Given the description of an element on the screen output the (x, y) to click on. 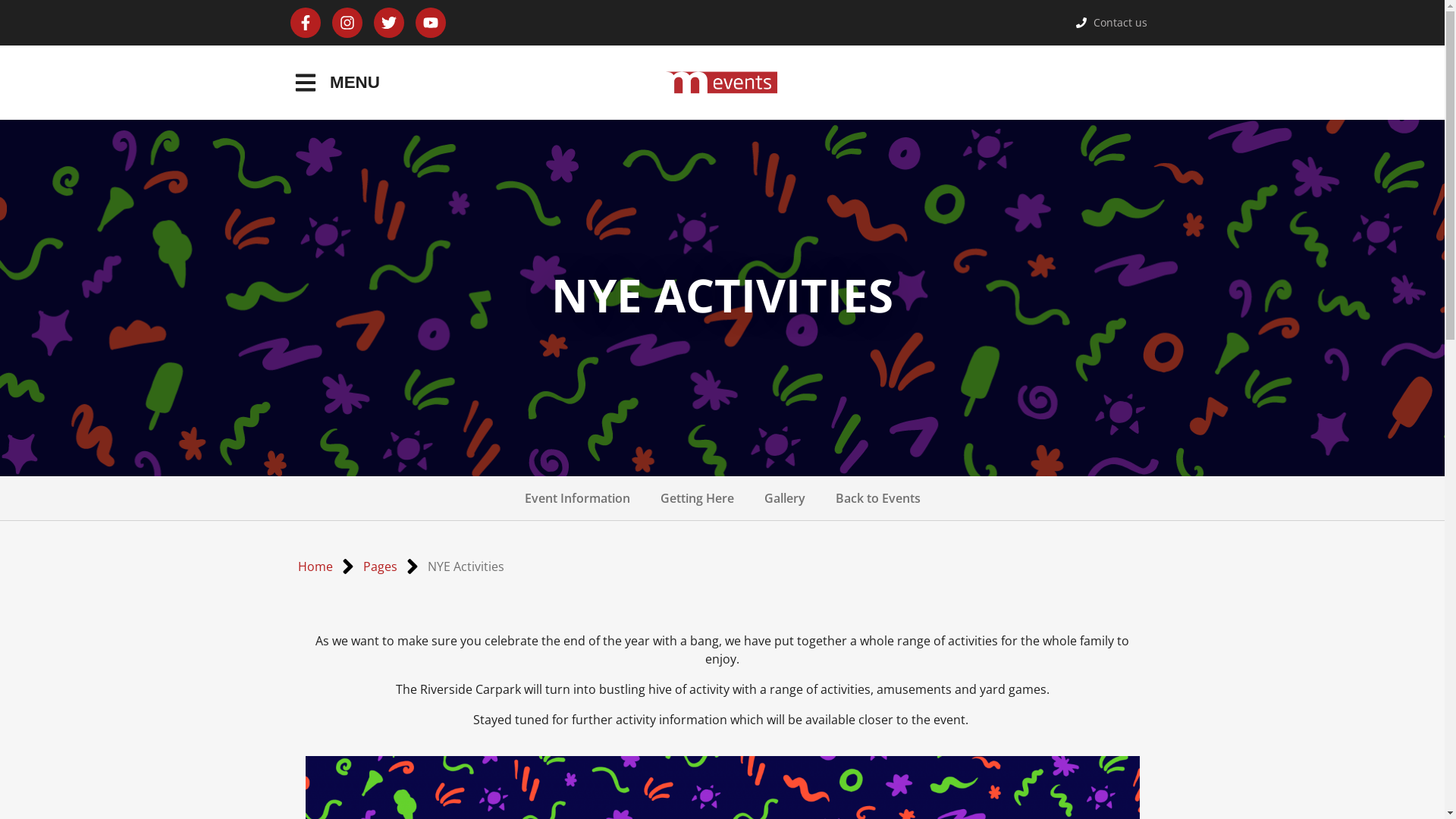
Getting Here Element type: text (696, 498)
Back to Events Element type: text (877, 498)
Gallery Element type: text (784, 498)
Contact us Element type: text (1111, 22)
Home Element type: text (314, 566)
Event Information Element type: text (577, 498)
Pages Element type: text (379, 566)
